Given the description of an element on the screen output the (x, y) to click on. 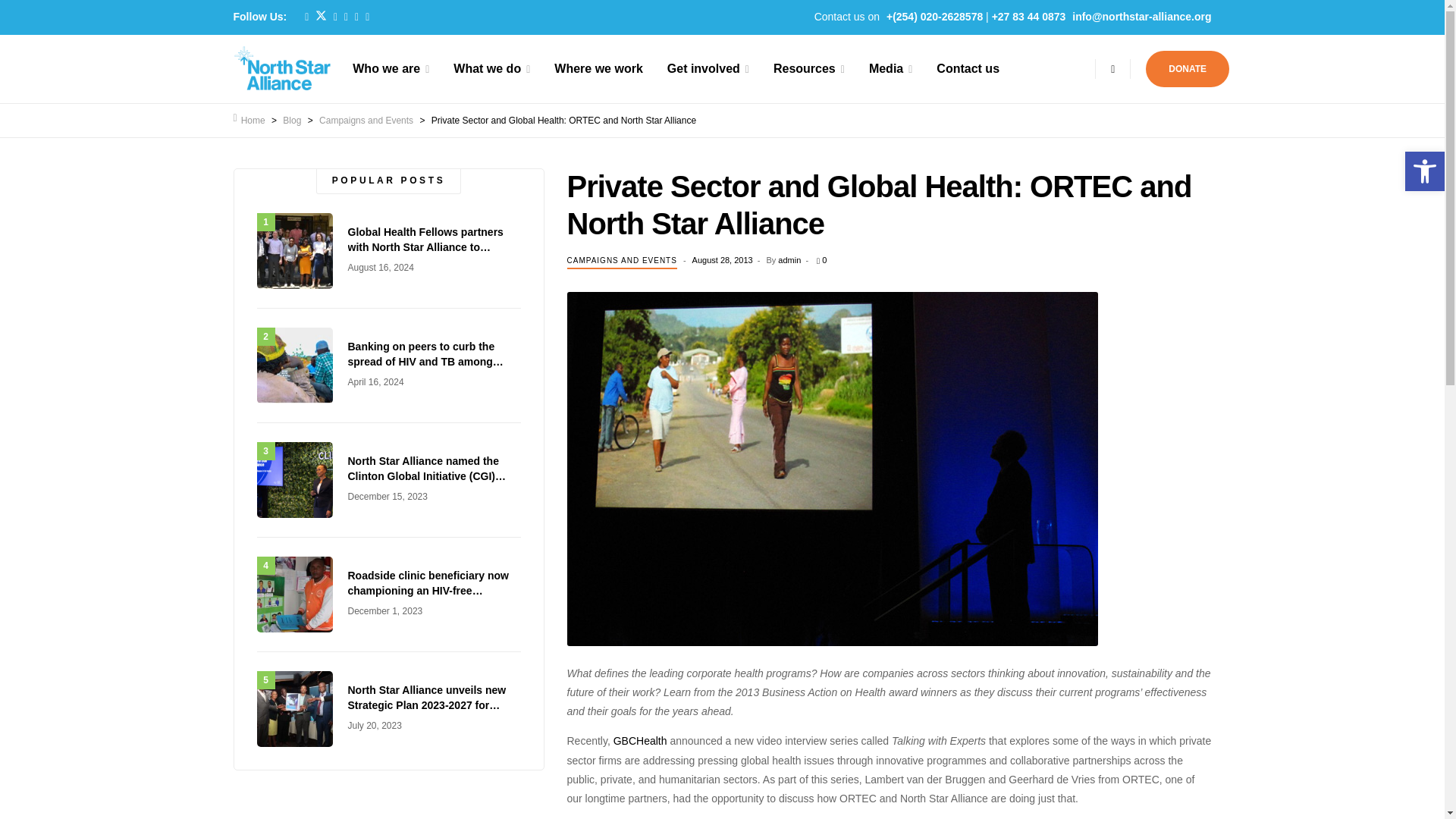
Contact us (967, 68)
Where we work (597, 68)
What we do (491, 68)
Go to the Campaigns and Events Category archives. (365, 120)
Go to Home. (248, 120)
Resources (809, 68)
Go to Blog. (291, 120)
Who we are (390, 68)
Accessibility Tools (1424, 170)
Media (890, 68)
